Given the description of an element on the screen output the (x, y) to click on. 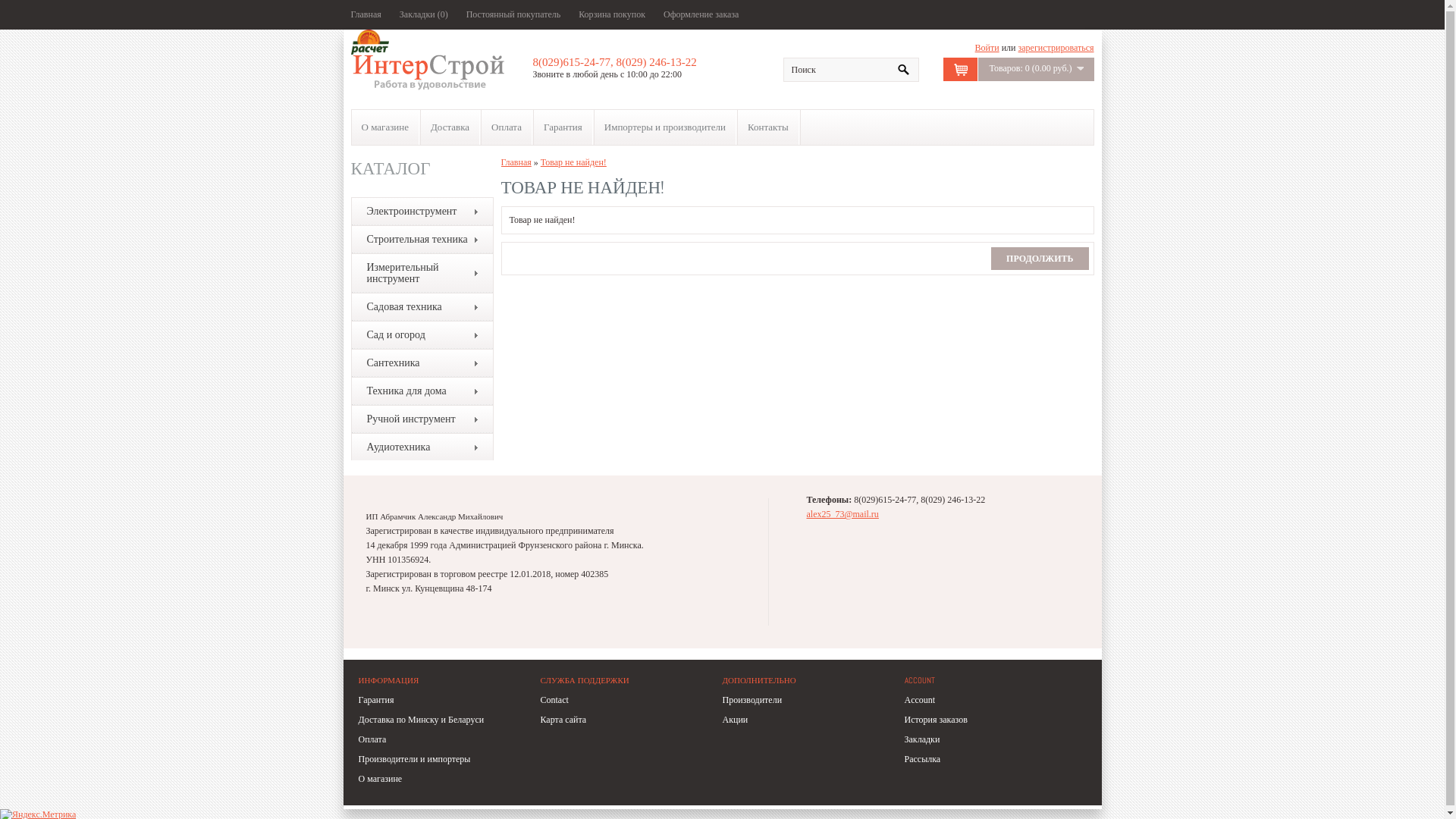
alex25_73@mail.ru Element type: text (842, 513)
Account Element type: text (919, 699)
Contact Element type: text (553, 699)
